Given the description of an element on the screen output the (x, y) to click on. 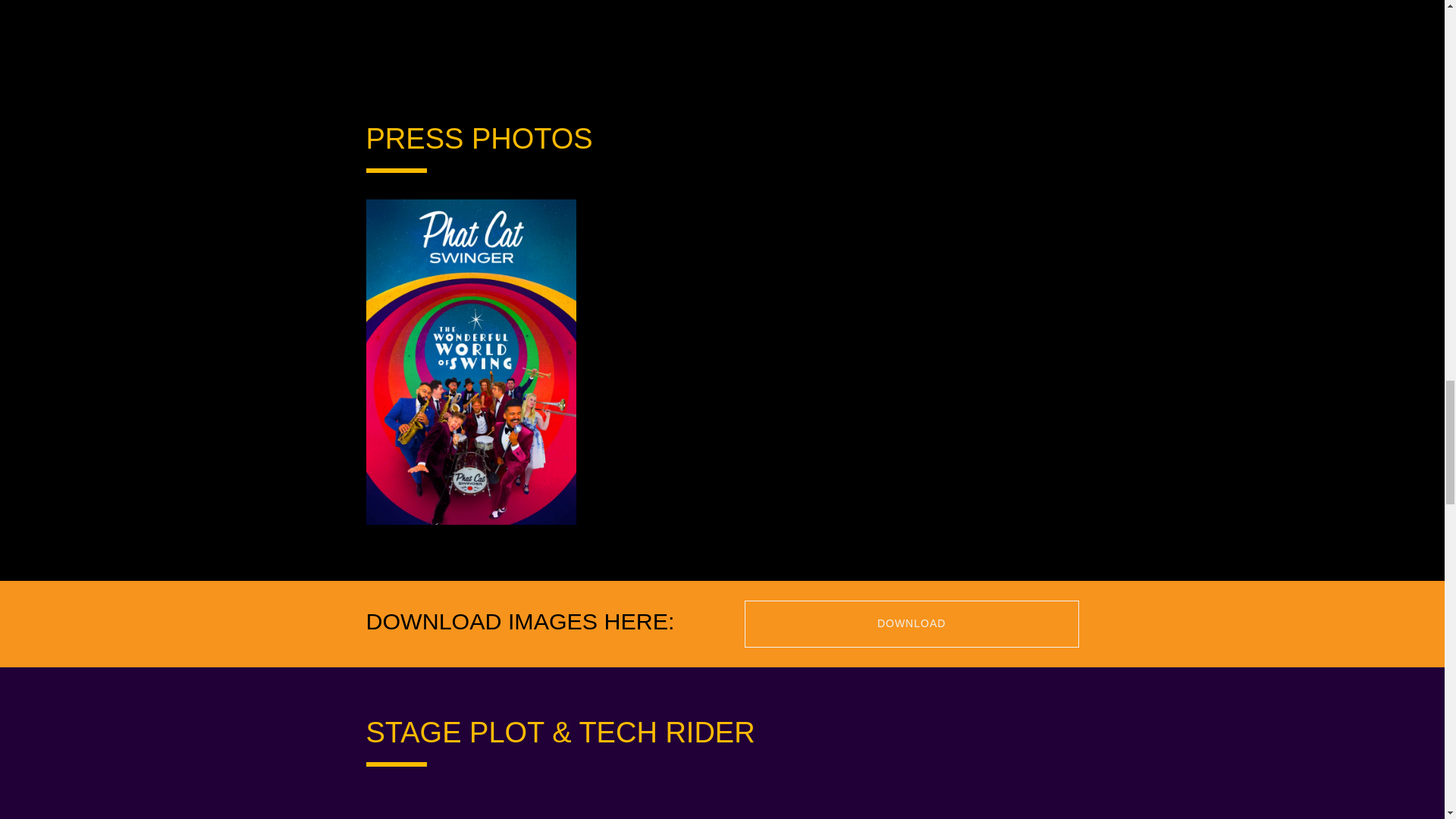
DOWNLOAD (911, 623)
